Given the description of an element on the screen output the (x, y) to click on. 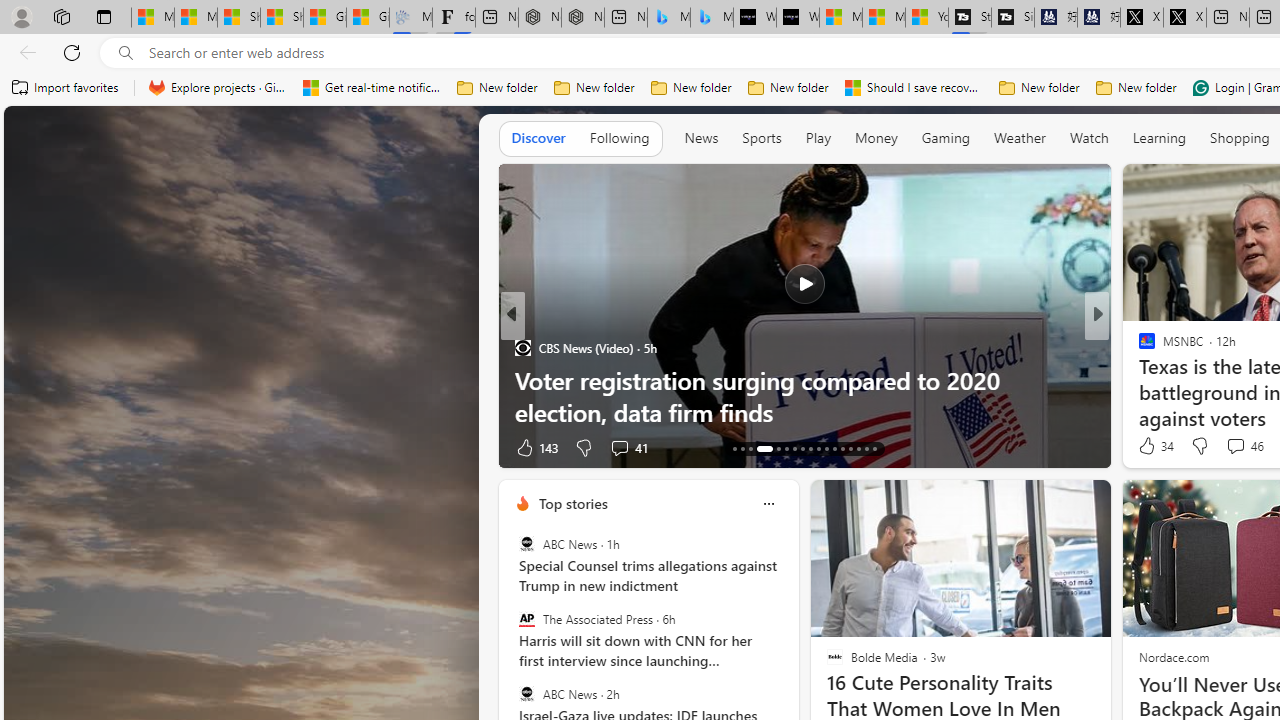
157 Like (1151, 447)
The Associated Press (526, 619)
20 Like (1149, 447)
Should I save recovered Word documents? - Microsoft Support (913, 88)
AutomationID: tab-22 (818, 448)
AutomationID: tab-16 (757, 448)
